Given the description of an element on the screen output the (x, y) to click on. 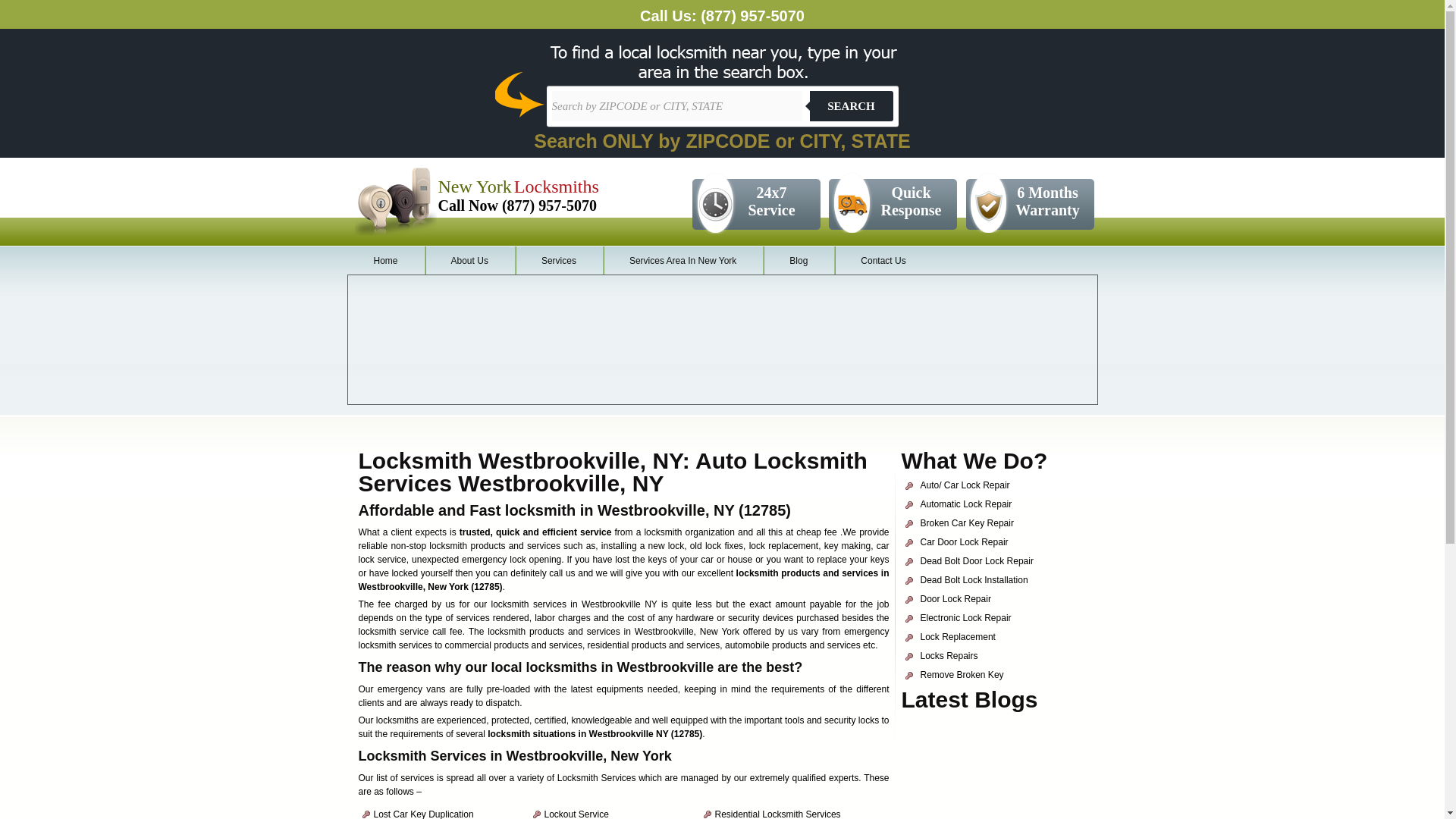
Blog (798, 260)
Contact Us (882, 260)
SEARCH (851, 105)
Services Area In New York (682, 260)
New York Locksmiths (518, 189)
Services (558, 260)
About Us (470, 260)
Home (386, 260)
